Given the description of an element on the screen output the (x, y) to click on. 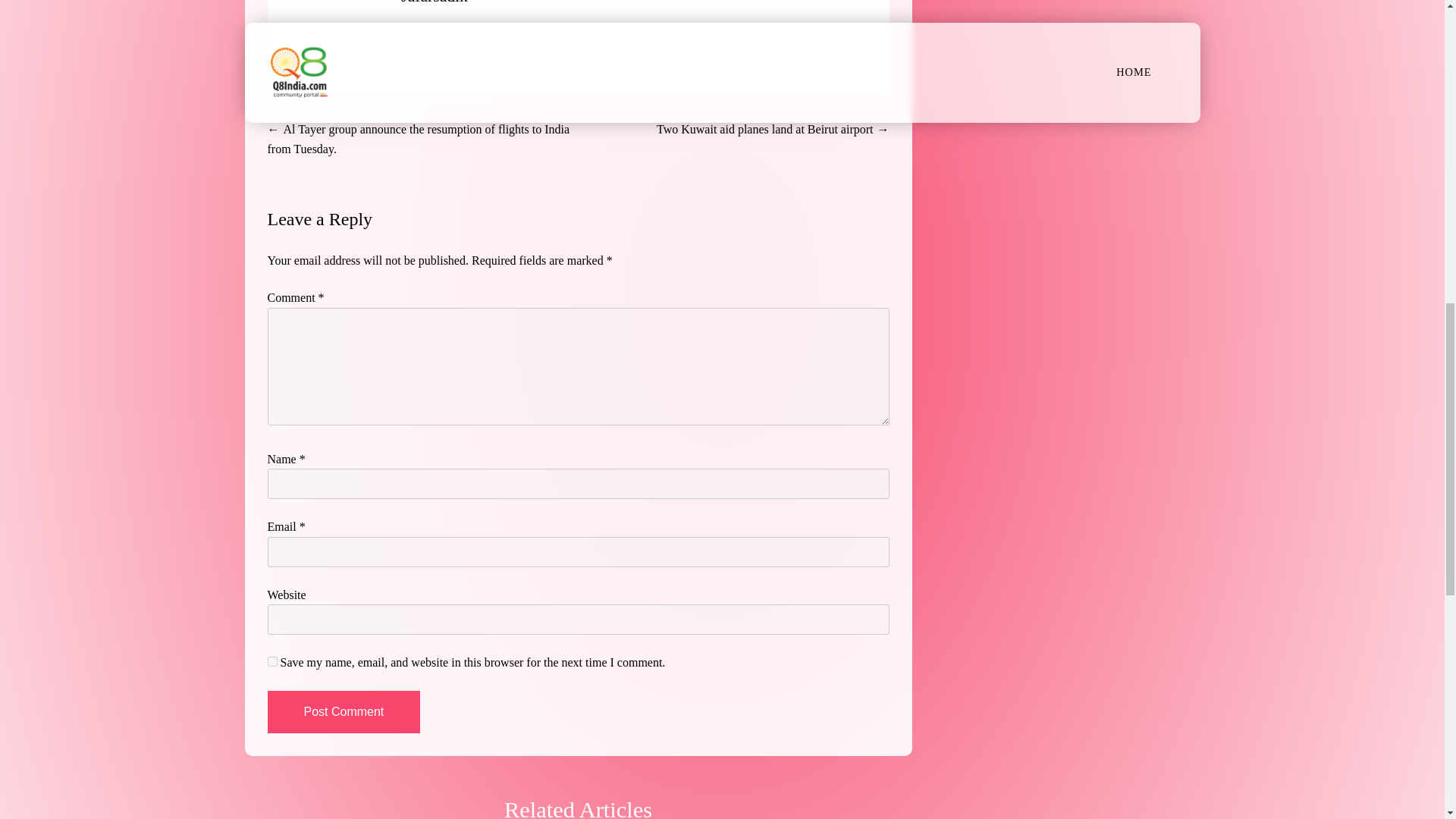
Post Comment (343, 712)
yes (271, 661)
Jafarsadik (434, 2)
Post Comment (343, 712)
Two Kuwait aid planes land at Beirut airport (764, 128)
